Given the description of an element on the screen output the (x, y) to click on. 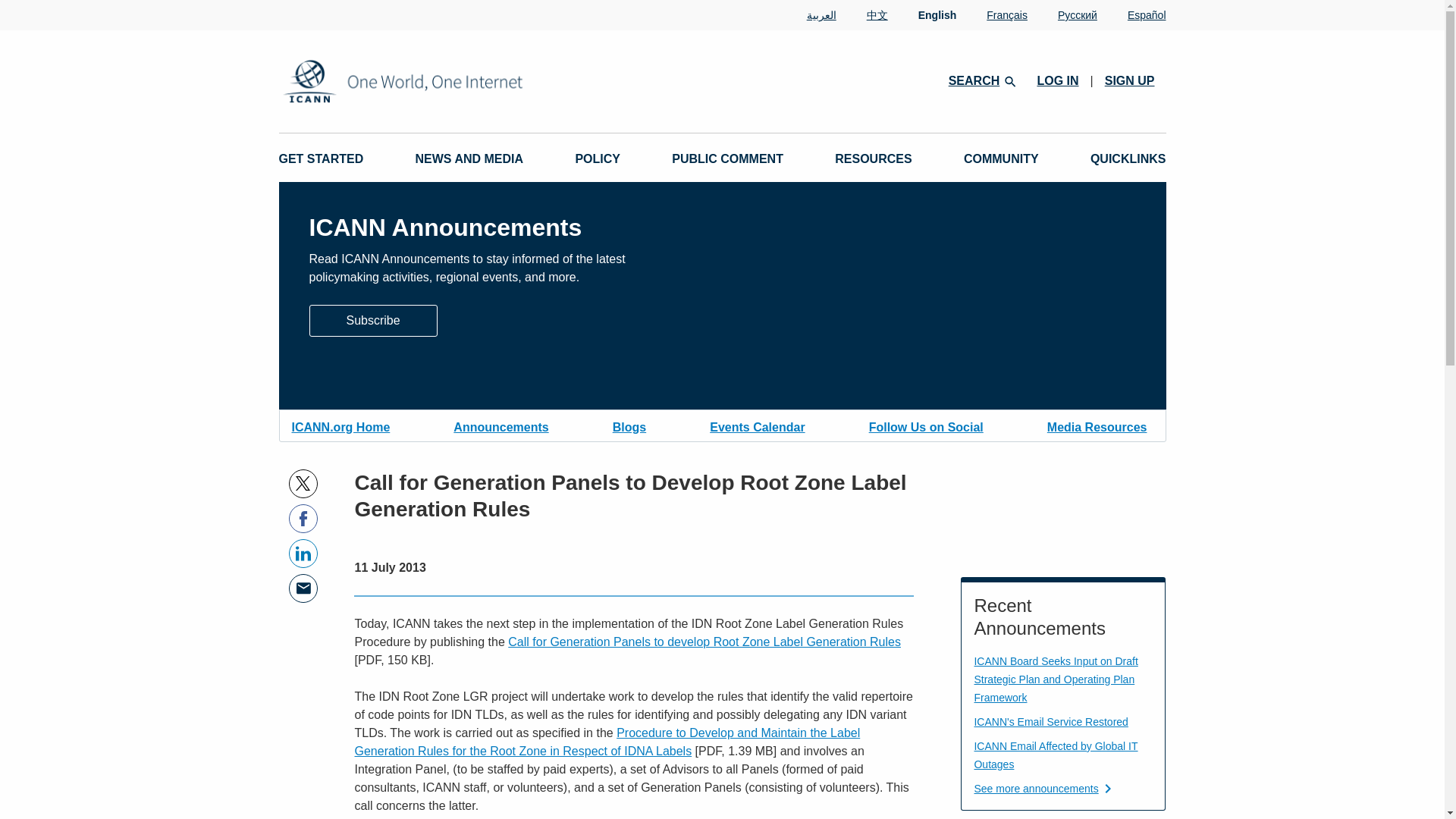
Follow Us on Social (926, 425)
PUBLIC COMMENT (727, 158)
Subscribe (373, 320)
SIGN UP (1129, 80)
LOG IN (1057, 81)
RESOURCES (872, 158)
SEARCH (981, 79)
NEWS AND MEDIA (469, 158)
COMMUNITY (1001, 158)
GET STARTED (321, 158)
Logo (452, 81)
QUICKLINKS (1128, 158)
Subscribe (373, 318)
ICANN.org Home (340, 425)
Events Calendar (757, 425)
